Given the description of an element on the screen output the (x, y) to click on. 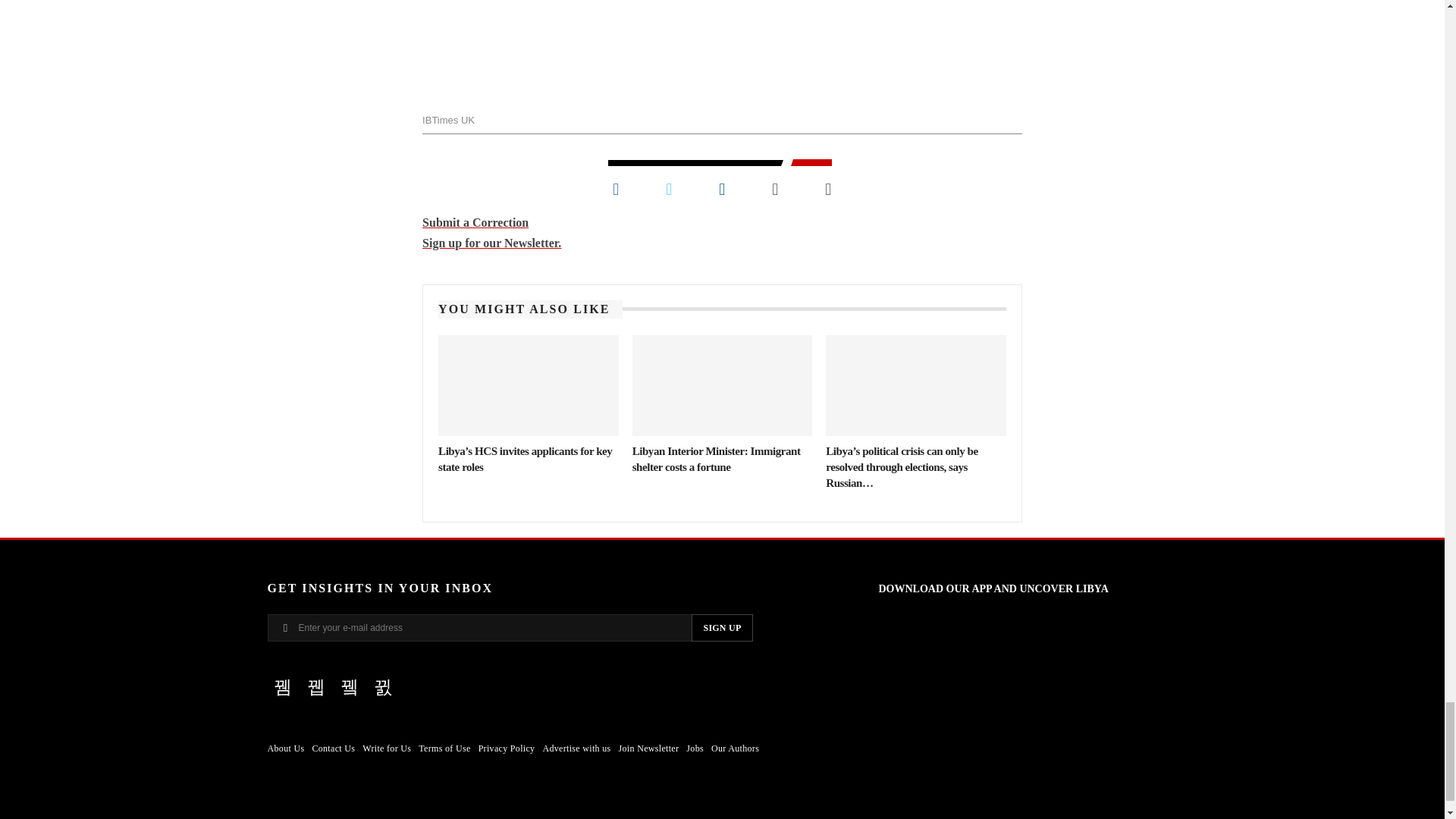
Sign Up (721, 627)
